Given the description of an element on the screen output the (x, y) to click on. 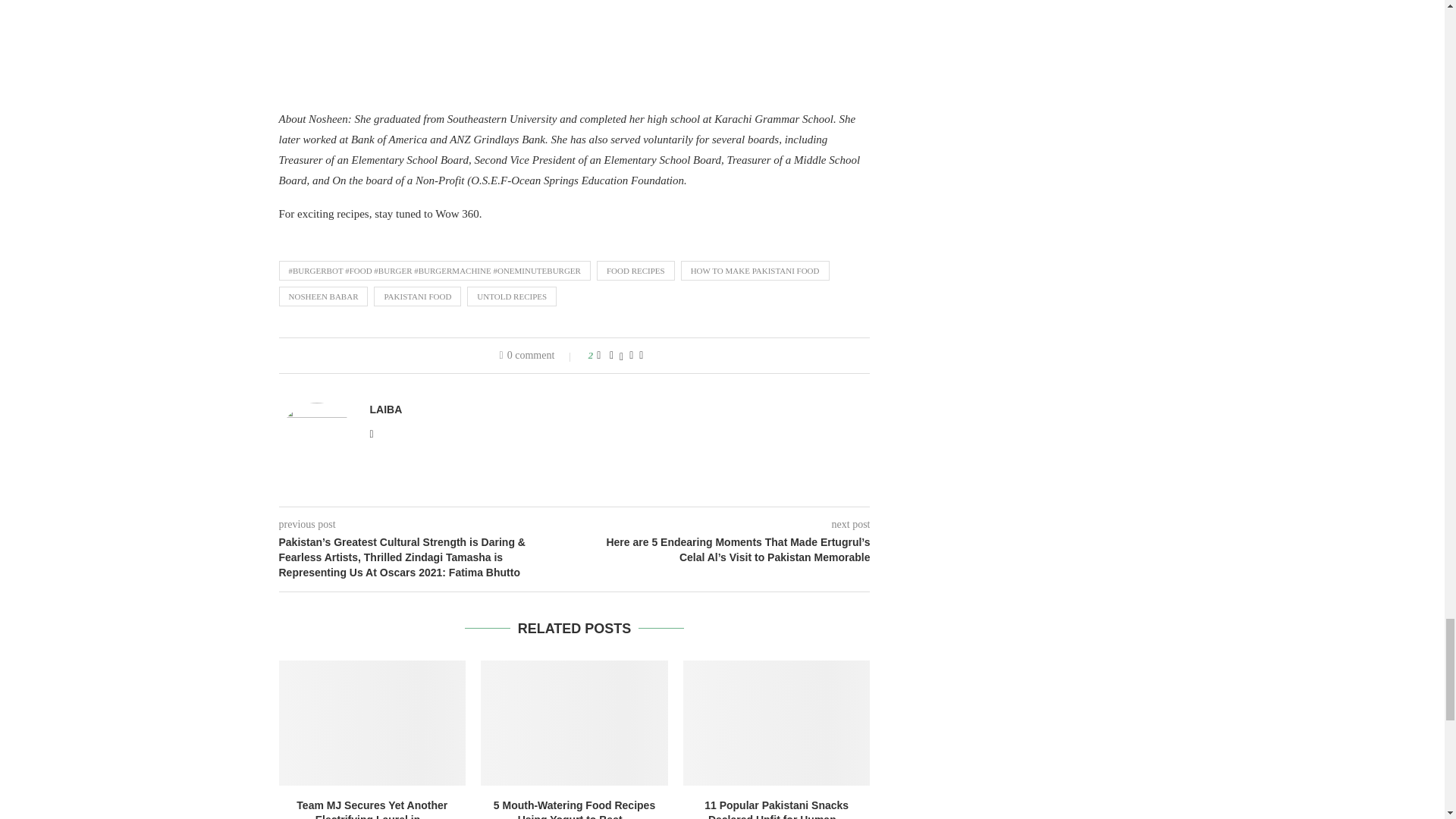
karahi gosht (722, 44)
5 Mouth-Watering Food Recipes Using Yogurt to Beat the Heat (574, 722)
Author Laiba (386, 409)
Like (597, 355)
